Given the description of an element on the screen output the (x, y) to click on. 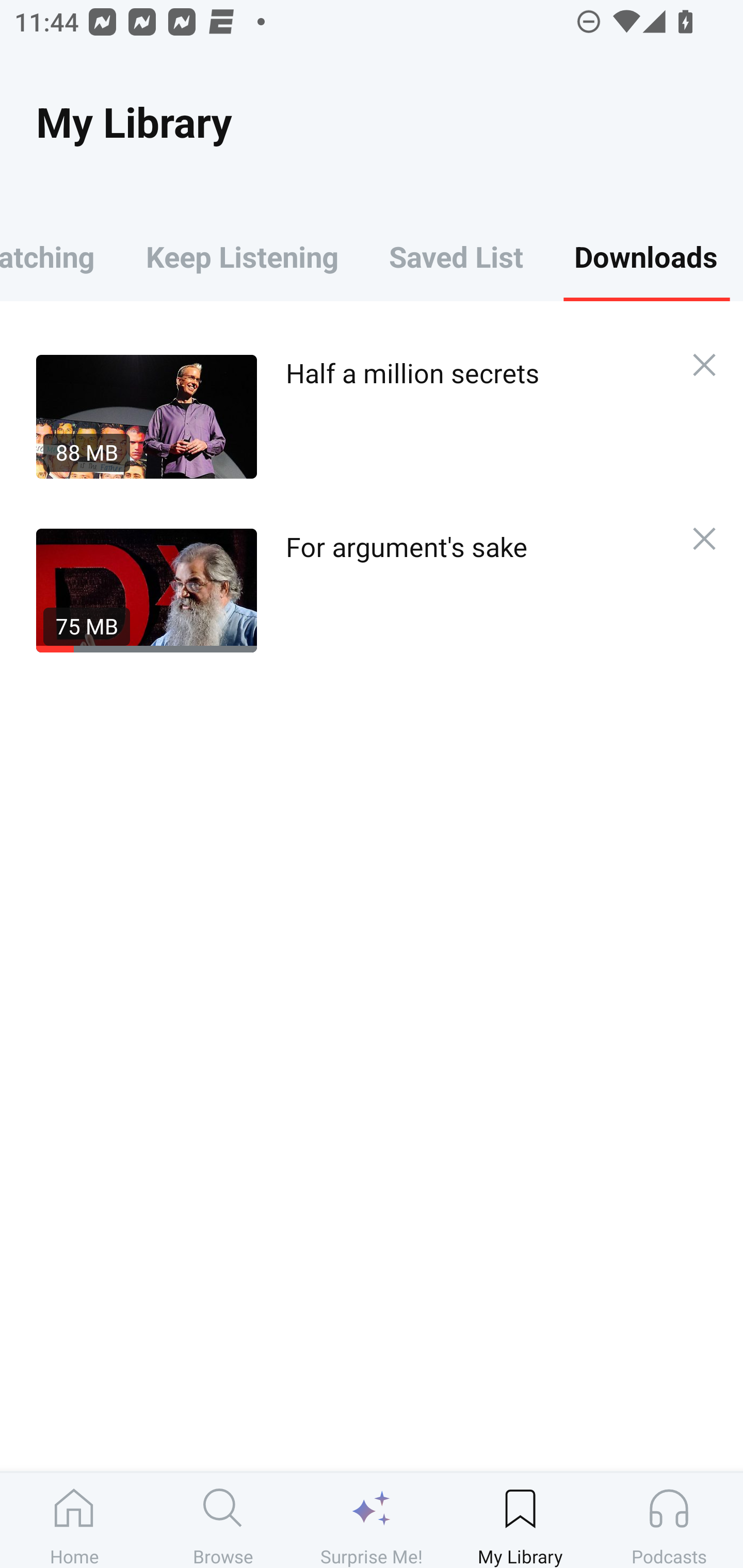
Keep Watching (60, 256)
Keep Listening (242, 256)
Saved List (456, 256)
Downloads (646, 256)
88 MB Half a million secrets (353, 416)
75 MB For argument's sake (353, 590)
Home (74, 1520)
Browse (222, 1520)
Surprise Me! (371, 1520)
My Library (519, 1520)
Podcasts (668, 1520)
